Given the description of an element on the screen output the (x, y) to click on. 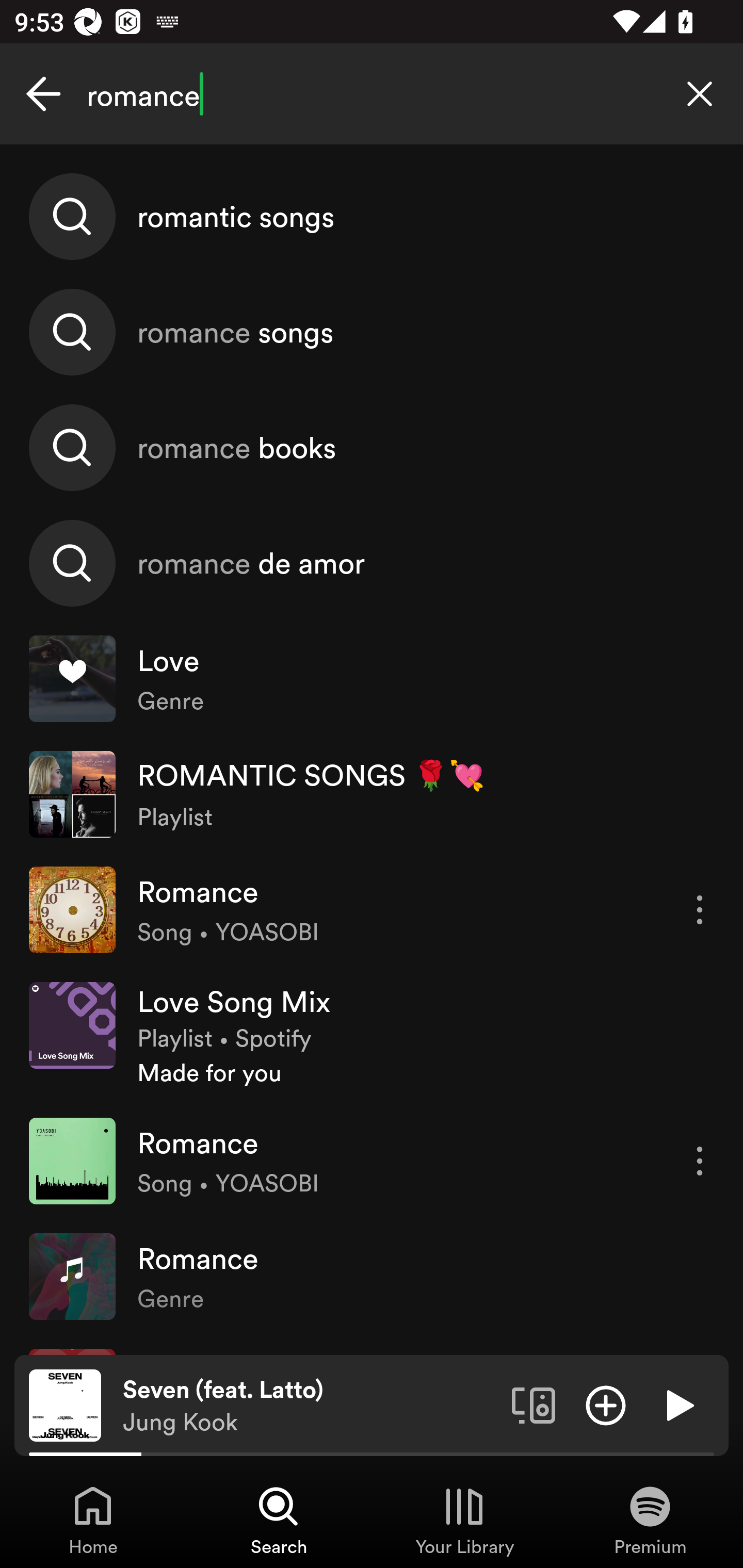
romance (371, 93)
Cancel (43, 93)
Clear search query (699, 93)
romantic songs (371, 216)
romance songs (371, 332)
romance books (371, 447)
romance de amor (371, 562)
Love Genre (371, 678)
ROMANTIC SONGS 🌹💘 Playlist (371, 793)
More options for song Romance (699, 910)
Love Song Mix Playlist • Spotify Made for you (371, 1035)
More options for song Romance (699, 1160)
Romance Genre (371, 1276)
Seven (feat. Latto) Jung Kook (309, 1405)
The cover art of the currently playing track (64, 1404)
Connect to a device. Opens the devices menu (533, 1404)
Add item (605, 1404)
Play (677, 1404)
Home, Tab 1 of 4 Home Home (92, 1519)
Search, Tab 2 of 4 Search Search (278, 1519)
Your Library, Tab 3 of 4 Your Library Your Library (464, 1519)
Premium, Tab 4 of 4 Premium Premium (650, 1519)
